Given the description of an element on the screen output the (x, y) to click on. 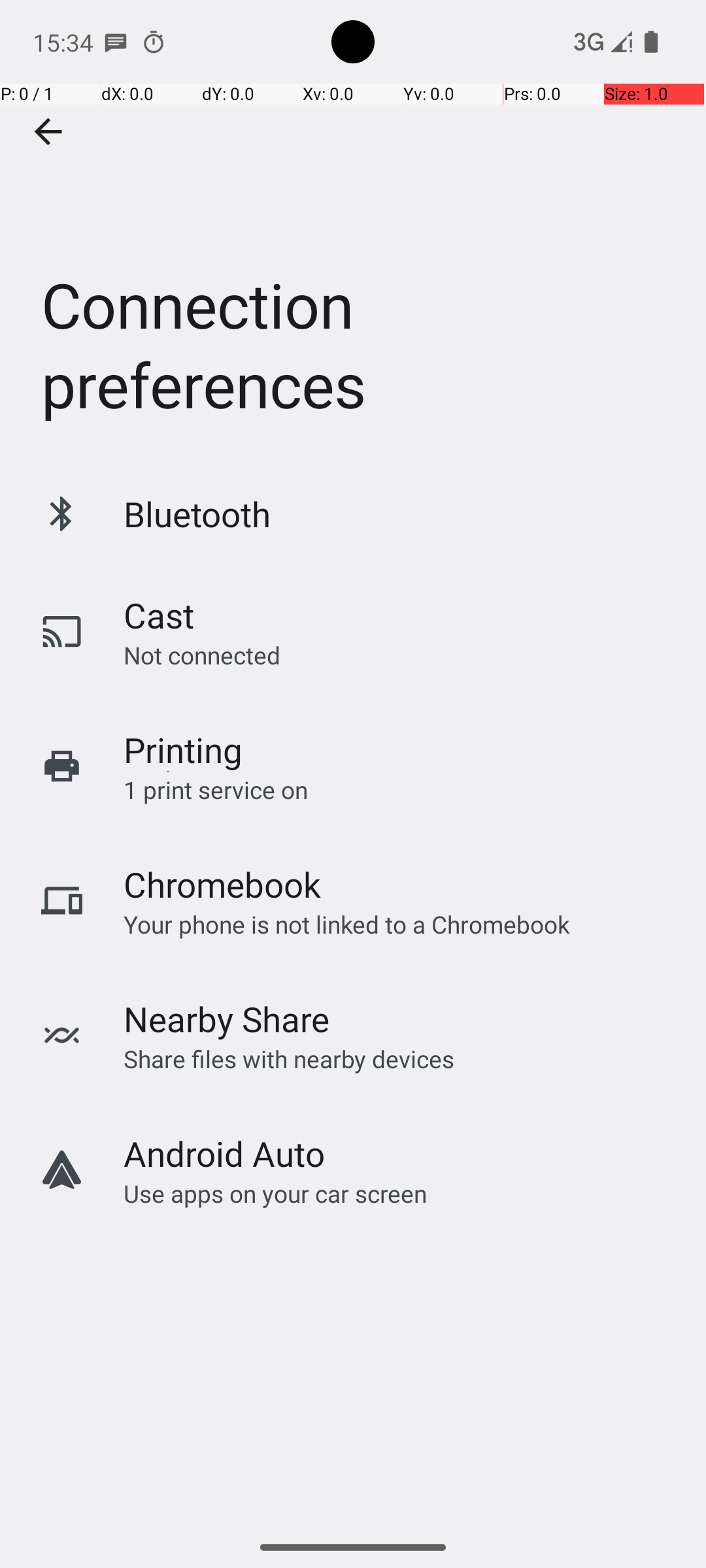
Not connected Element type: android.widget.TextView (201, 654)
1 print service on Element type: android.widget.TextView (215, 789)
Your phone is not linked to a Chromebook Element type: android.widget.TextView (346, 923)
Share files with nearby devices Element type: android.widget.TextView (288, 1058)
Use apps on your car screen Element type: android.widget.TextView (275, 1192)
